Given the description of an element on the screen output the (x, y) to click on. 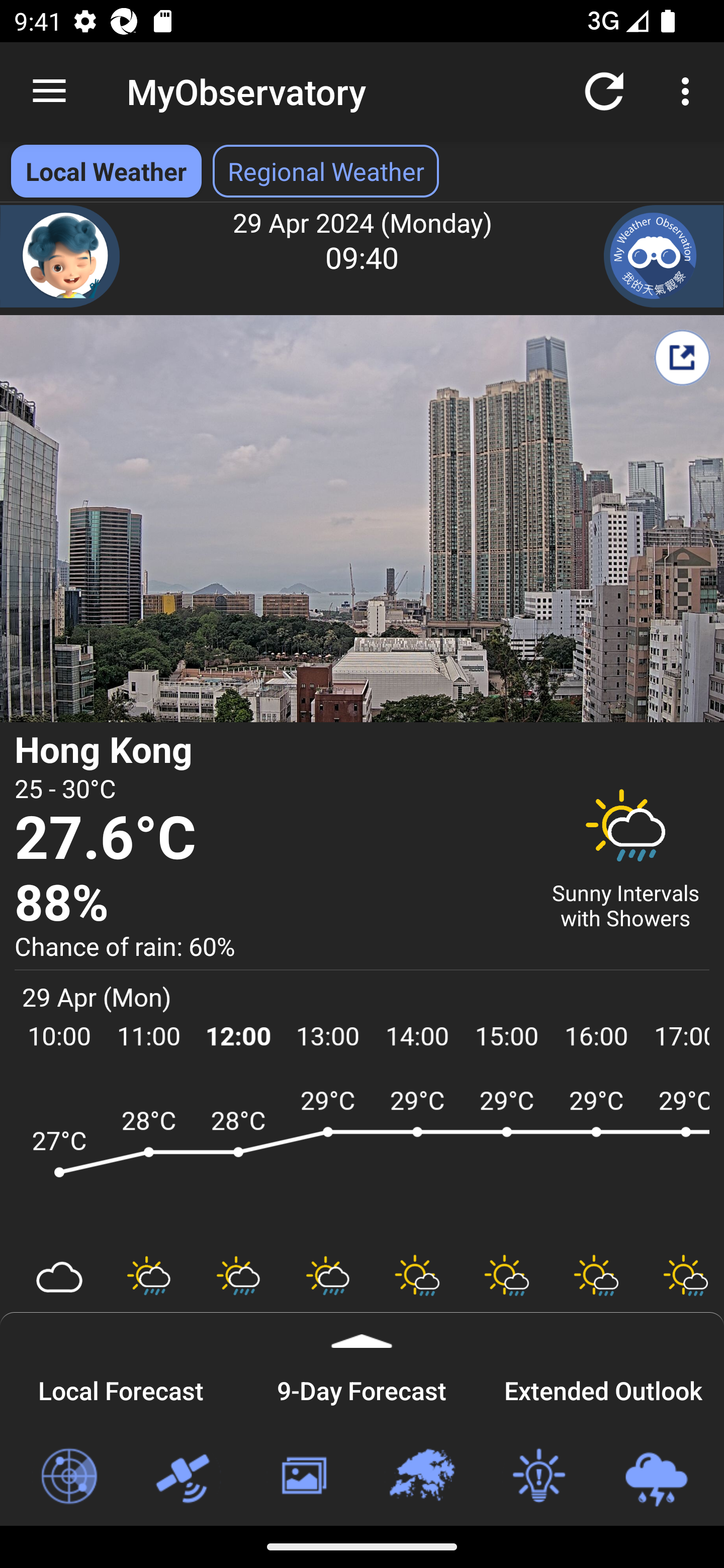
Navigate up (49, 91)
Refresh (604, 90)
More options (688, 90)
Local Weather Local Weather selected (105, 170)
Regional Weather Select Regional Weather (325, 170)
Chatbot (60, 256)
My Weather Observation (663, 256)
Share My Weather Report (681, 357)
27.6°C Temperature
27.6 degree Celsius (270, 839)
88% Relative Humidity
88 percent (270, 903)
ARWF (361, 1160)
Expand (362, 1330)
Local Forecast (120, 1387)
Extended Outlook (603, 1387)
Radar Images (68, 1476)
Satellite Images (185, 1476)
Weather Photos (302, 1476)
Regional Weather (420, 1476)
Weather Tips (537, 1476)
Loc-based Rain & Lightning Forecast (655, 1476)
